Given the description of an element on the screen output the (x, y) to click on. 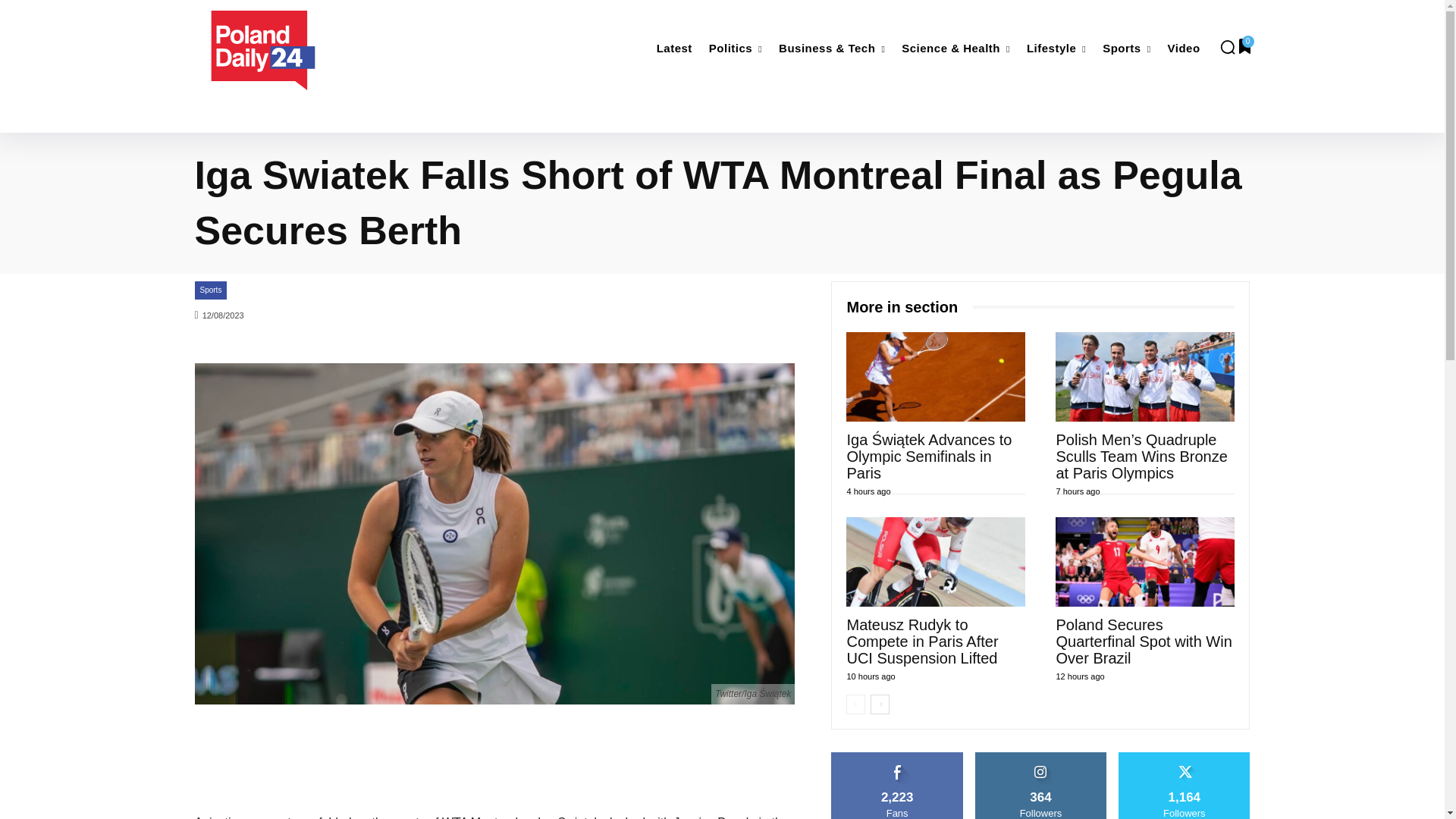
Politics (735, 48)
